Given the description of an element on the screen output the (x, y) to click on. 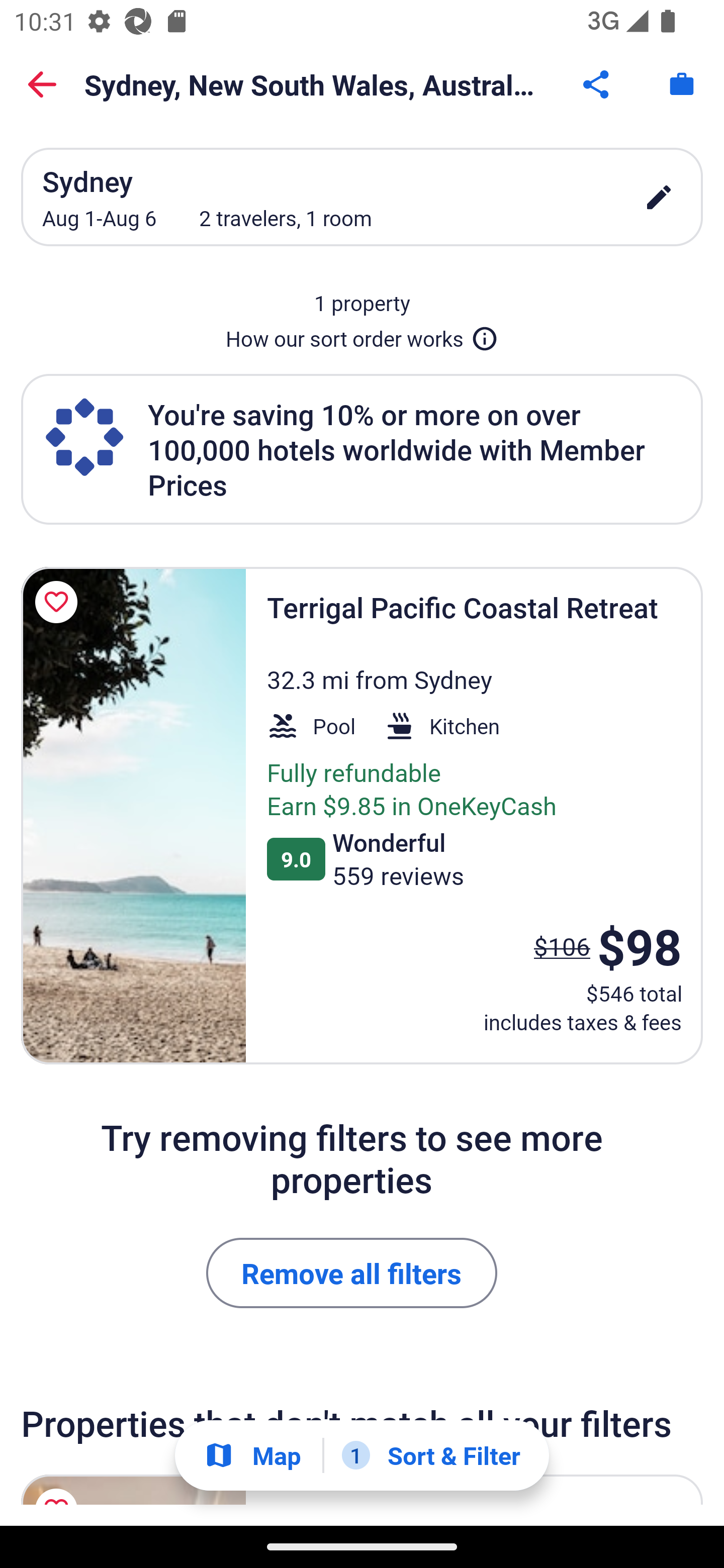
Back (42, 84)
Share Button (597, 84)
Trips. Button (681, 84)
Sydney Aug 1-Aug 6 2 travelers, 1 room edit (361, 196)
How our sort order works (361, 334)
Save Terrigal Pacific Coastal Retreat to a trip (59, 601)
Terrigal Pacific Coastal Retreat (133, 815)
$106 The price was $106 (561, 945)
Remove all filters (351, 1272)
1 Sort & Filter 1 Filter applied. Filters Button (430, 1455)
Show map Map Show map Button (252, 1455)
